Given the description of an element on the screen output the (x, y) to click on. 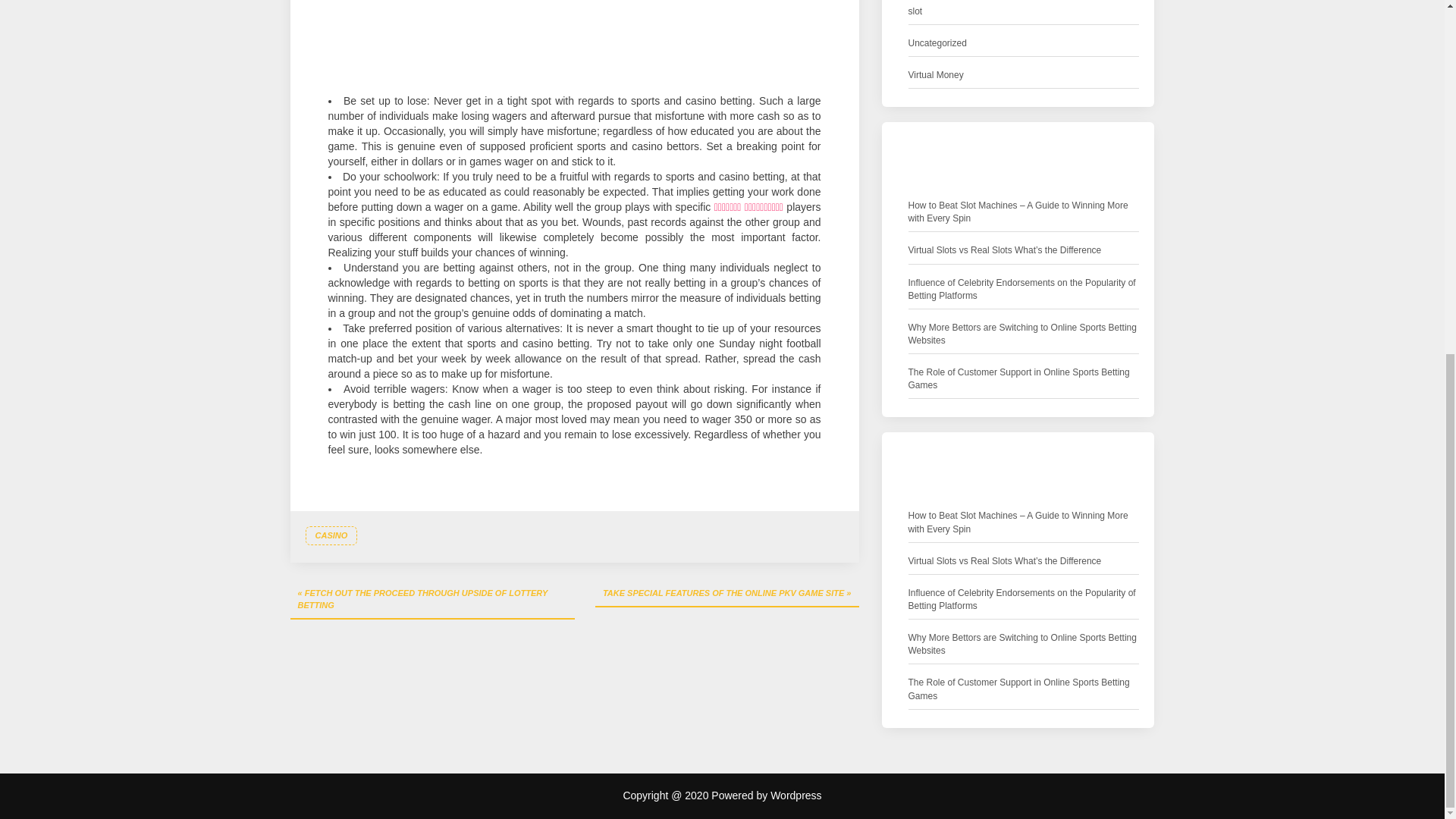
Uncategorized (937, 43)
TAKE SPECIAL FEATURES OF THE ONLINE PKV GAME SITE (727, 594)
Virtual Money (935, 75)
CASINO (330, 536)
slot (915, 11)
The Role of Customer Support in Online Sports Betting Games (1024, 378)
FETCH OUT THE PROCEED THROUGH UPSIDE OF LOTTERY BETTING (431, 600)
